Given the description of an element on the screen output the (x, y) to click on. 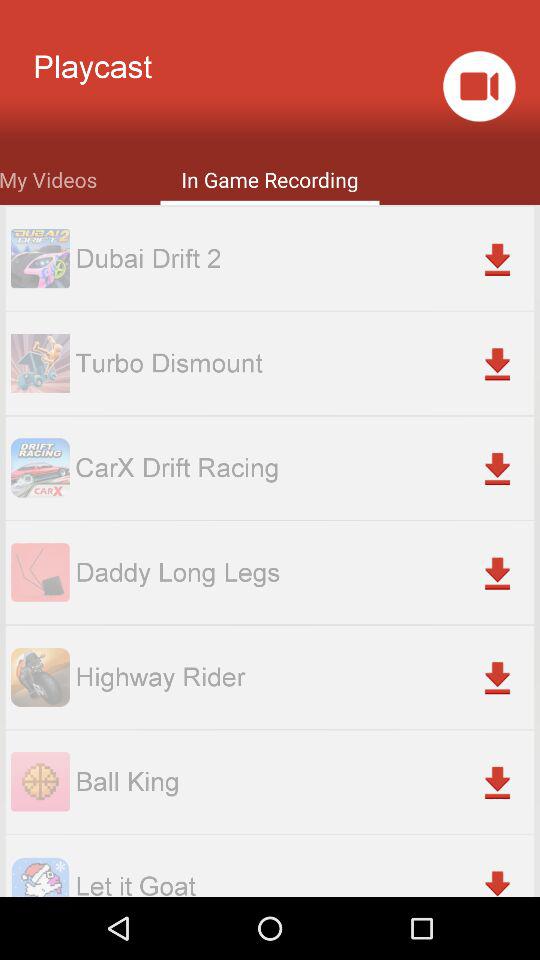
scroll until carx drift racing (304, 467)
